Given the description of an element on the screen output the (x, y) to click on. 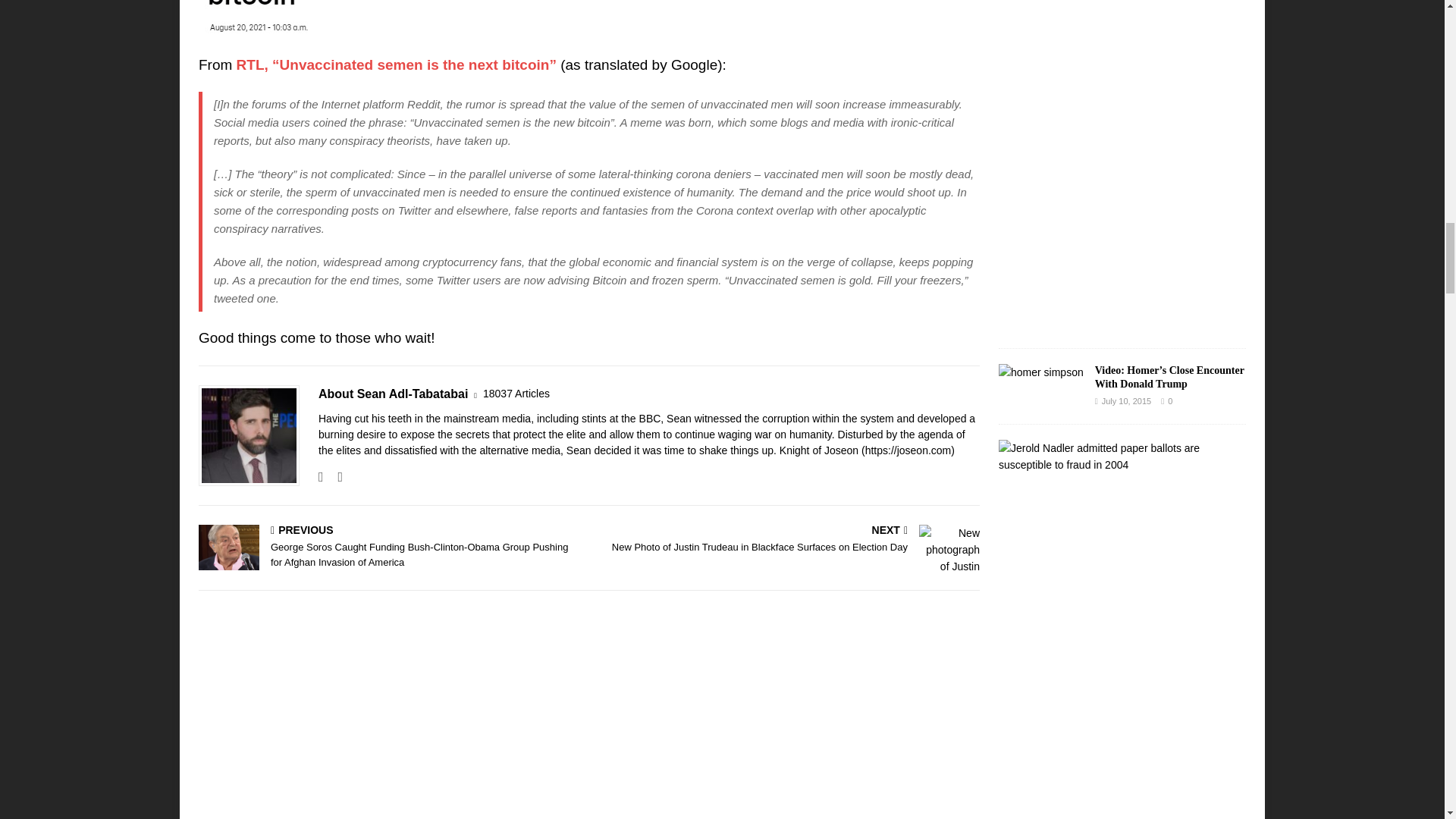
More articles written by Sean Adl-Tabatabai' (516, 393)
Follow Sean Adl-Tabatabai on Facebook (320, 477)
Follow Sean Adl-Tabatabai on Twitter (334, 477)
